Given the description of an element on the screen output the (x, y) to click on. 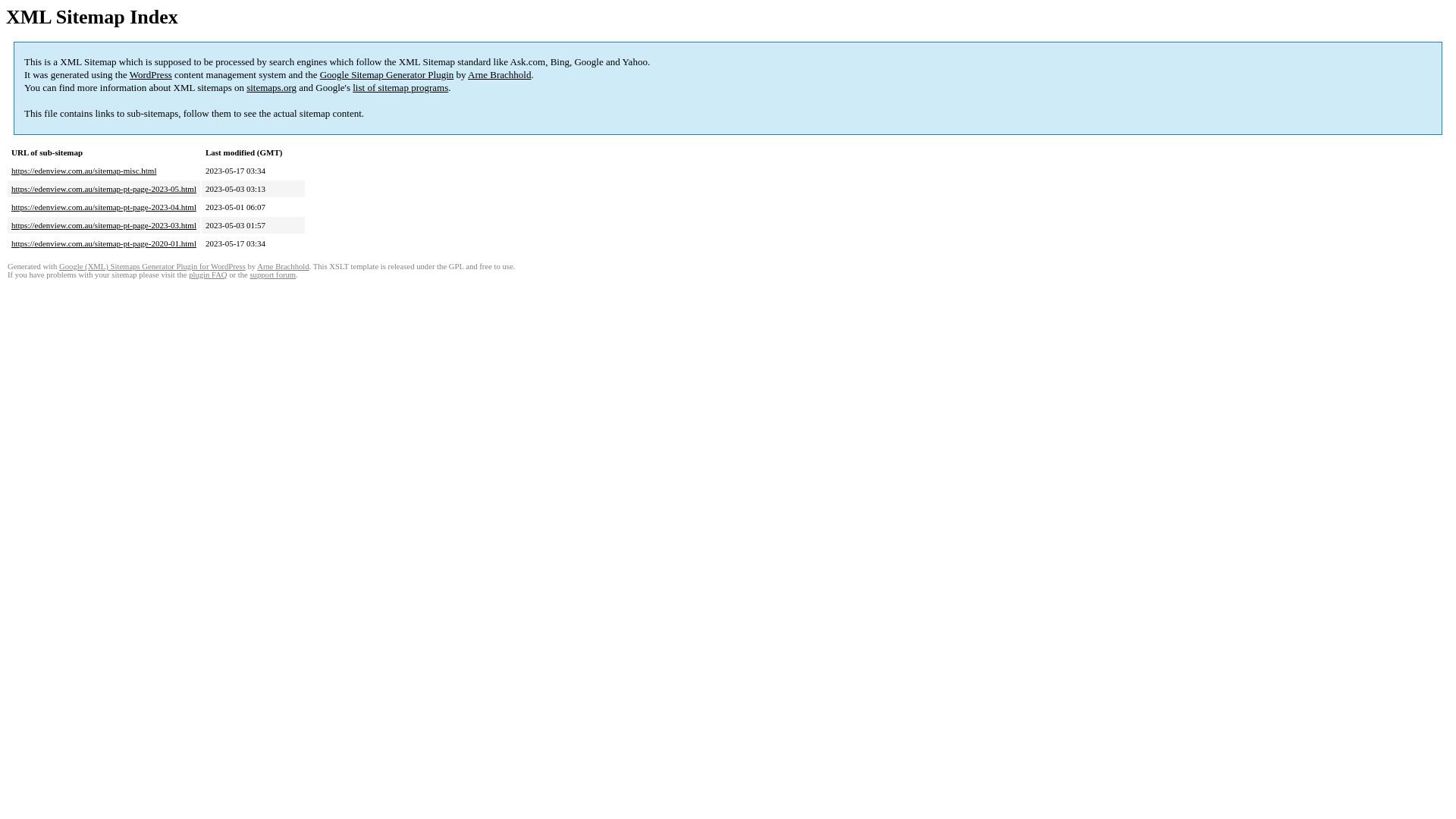
list of sitemap programs Element type: text (400, 87)
plugin FAQ Element type: text (207, 274)
https://edenview.com.au/sitemap-pt-page-2020-01.html Element type: text (103, 242)
support forum Element type: text (272, 274)
https://edenview.com.au/sitemap-pt-page-2023-05.html Element type: text (103, 188)
https://edenview.com.au/sitemap-pt-page-2023-03.html Element type: text (103, 224)
Arne Brachhold Element type: text (498, 74)
Google Sitemap Generator Plugin Element type: text (387, 74)
WordPress Element type: text (150, 74)
sitemaps.org Element type: text (271, 87)
Arne Brachhold Element type: text (282, 266)
Google (XML) Sitemaps Generator Plugin for WordPress Element type: text (152, 266)
https://edenview.com.au/sitemap-misc.html Element type: text (83, 170)
https://edenview.com.au/sitemap-pt-page-2023-04.html Element type: text (103, 206)
